Given the description of an element on the screen output the (x, y) to click on. 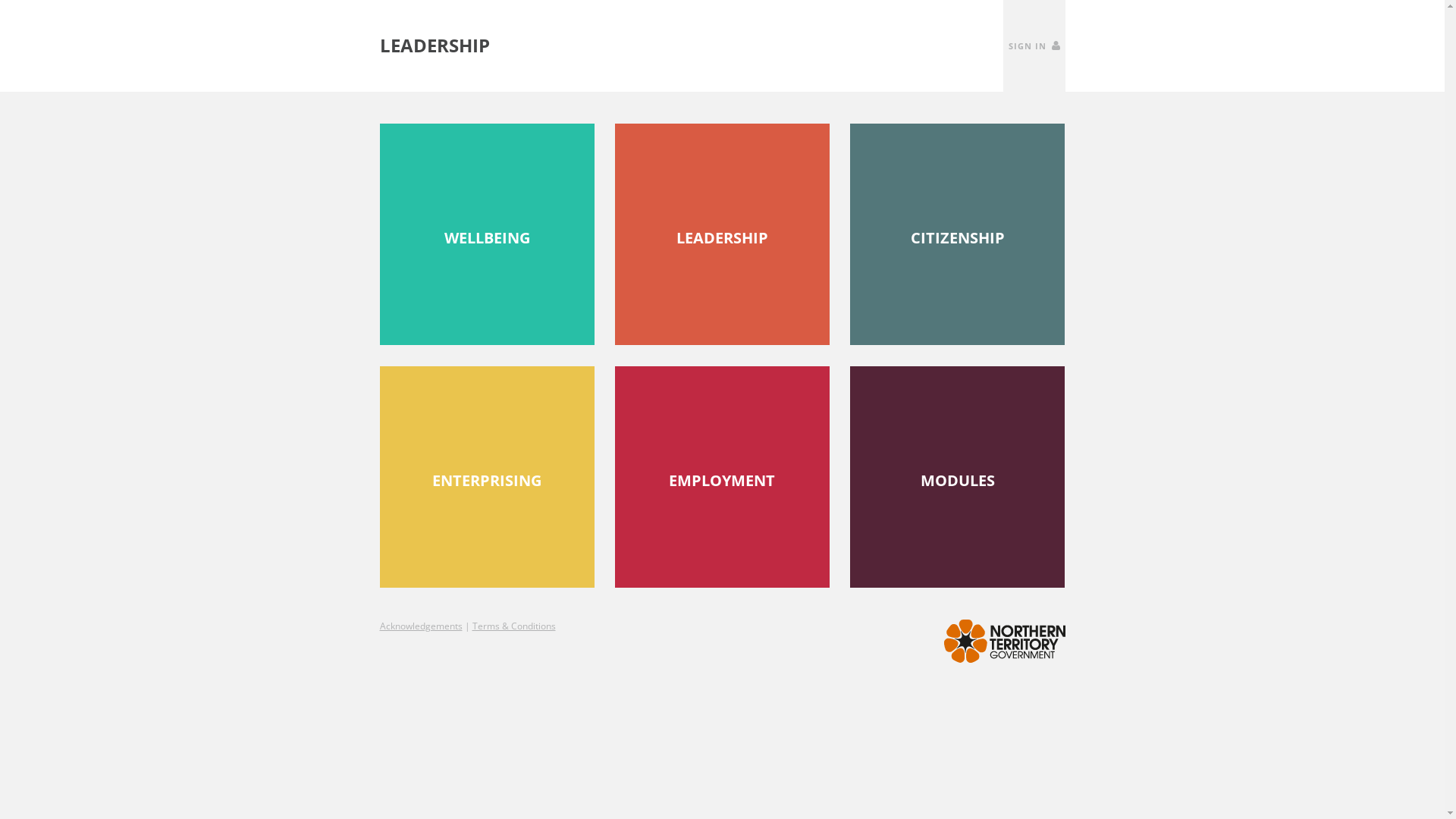
LEADERSHIP Element type: text (722, 234)
Skip to content Element type: text (0, 0)
ENTERPRISING Element type: text (486, 476)
LEADERSHIP Element type: text (434, 44)
Acknowledgements Element type: text (420, 625)
EMPLOYMENT Element type: text (722, 476)
CITIZENSHIP Element type: text (957, 234)
MODULES Element type: text (957, 476)
Terms & Conditions Element type: text (513, 625)
SIGN IN Element type: text (1033, 45)
WELLBEING Element type: text (486, 234)
